Given the description of an element on the screen output the (x, y) to click on. 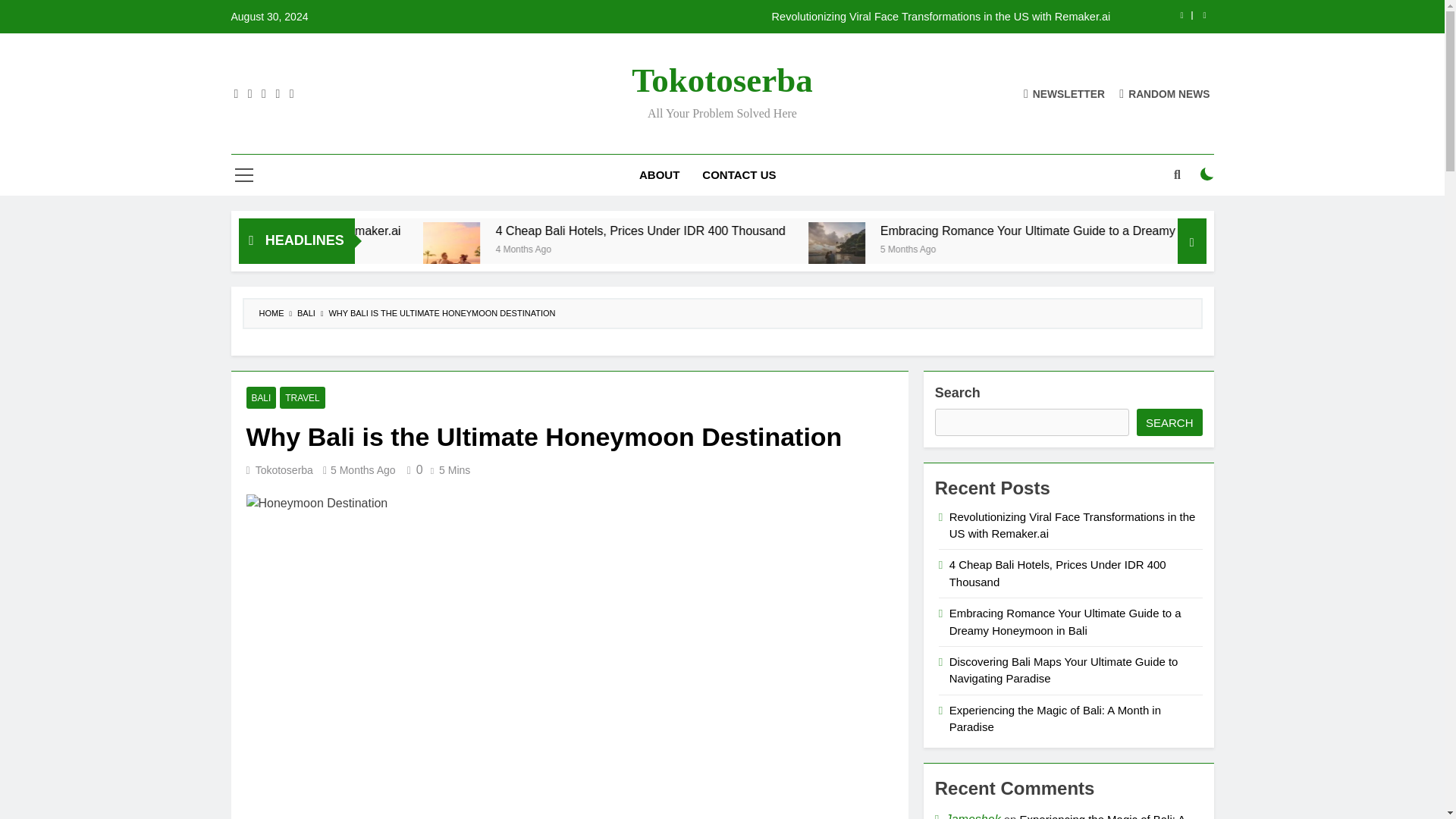
ABOUT (658, 174)
4 Cheap Bali Hotels, Prices Under IDR 400 Thousand (901, 230)
4 Cheap Bali Hotels, Prices Under IDR 400 Thousand (829, 230)
CONTACT US (738, 174)
4 Cheap Bali Hotels, Prices Under IDR 400 Thousand (643, 250)
